Given the description of an element on the screen output the (x, y) to click on. 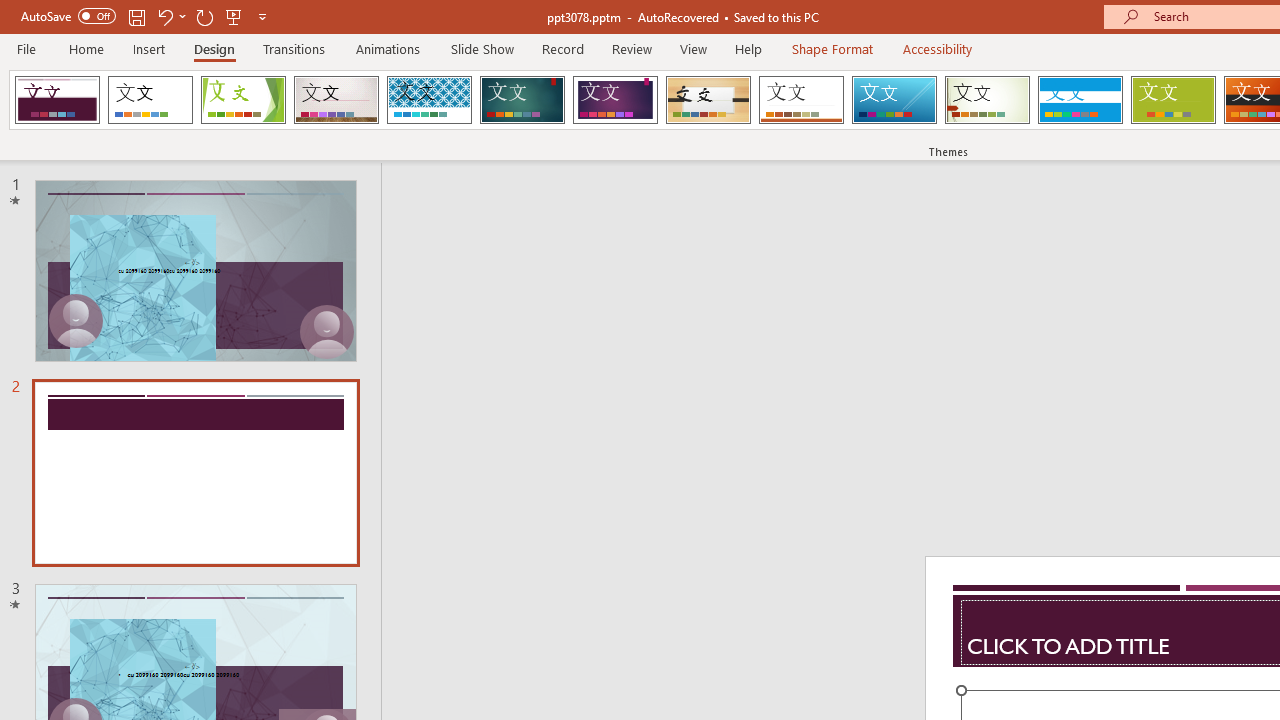
Banded (1080, 100)
Organic (708, 100)
